Given the description of an element on the screen output the (x, y) to click on. 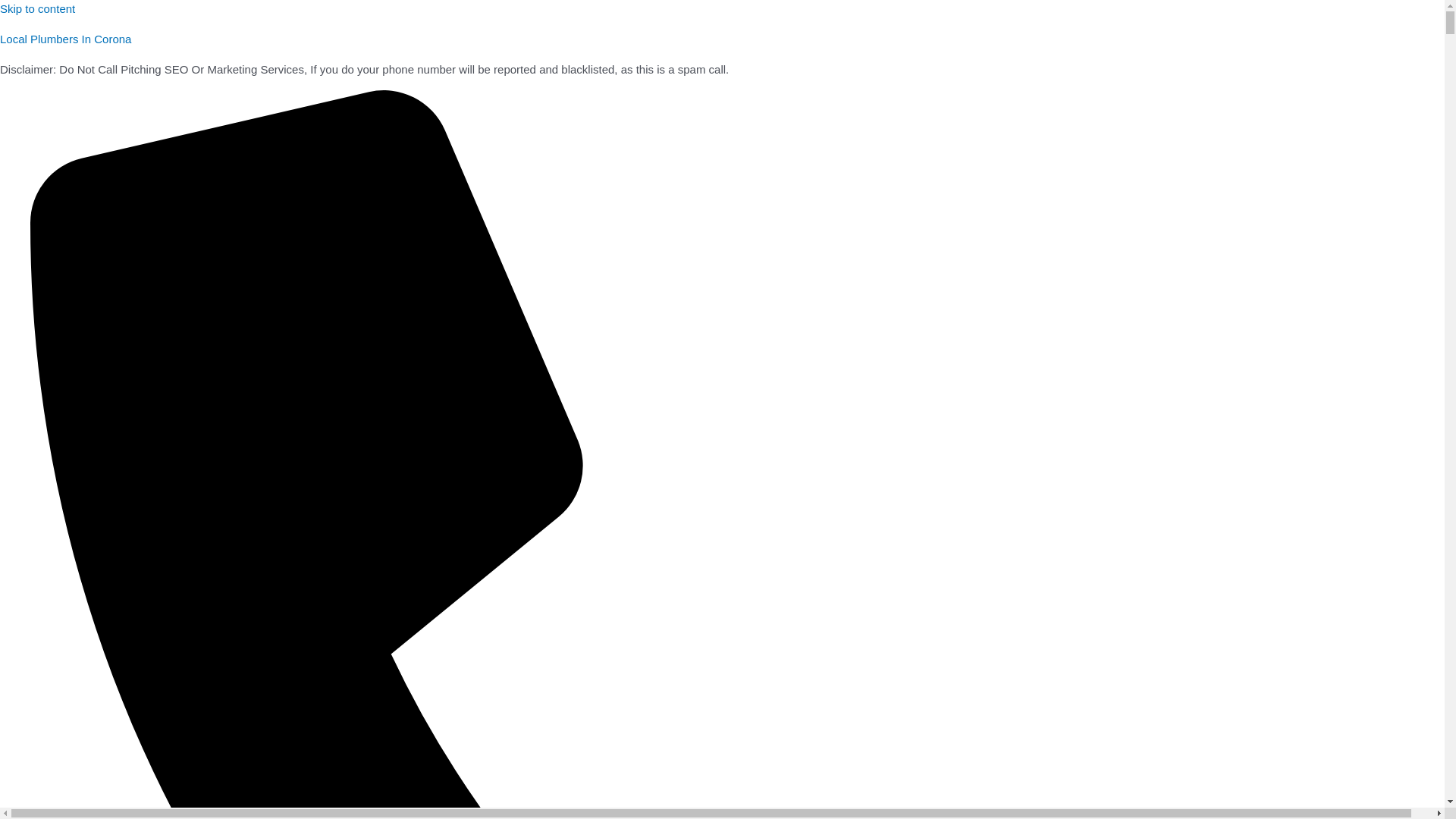
Skip to content (37, 8)
Local Plumbers In Corona (65, 38)
Skip to content (37, 8)
Local Plumbers In Corona (65, 38)
